Given the description of an element on the screen output the (x, y) to click on. 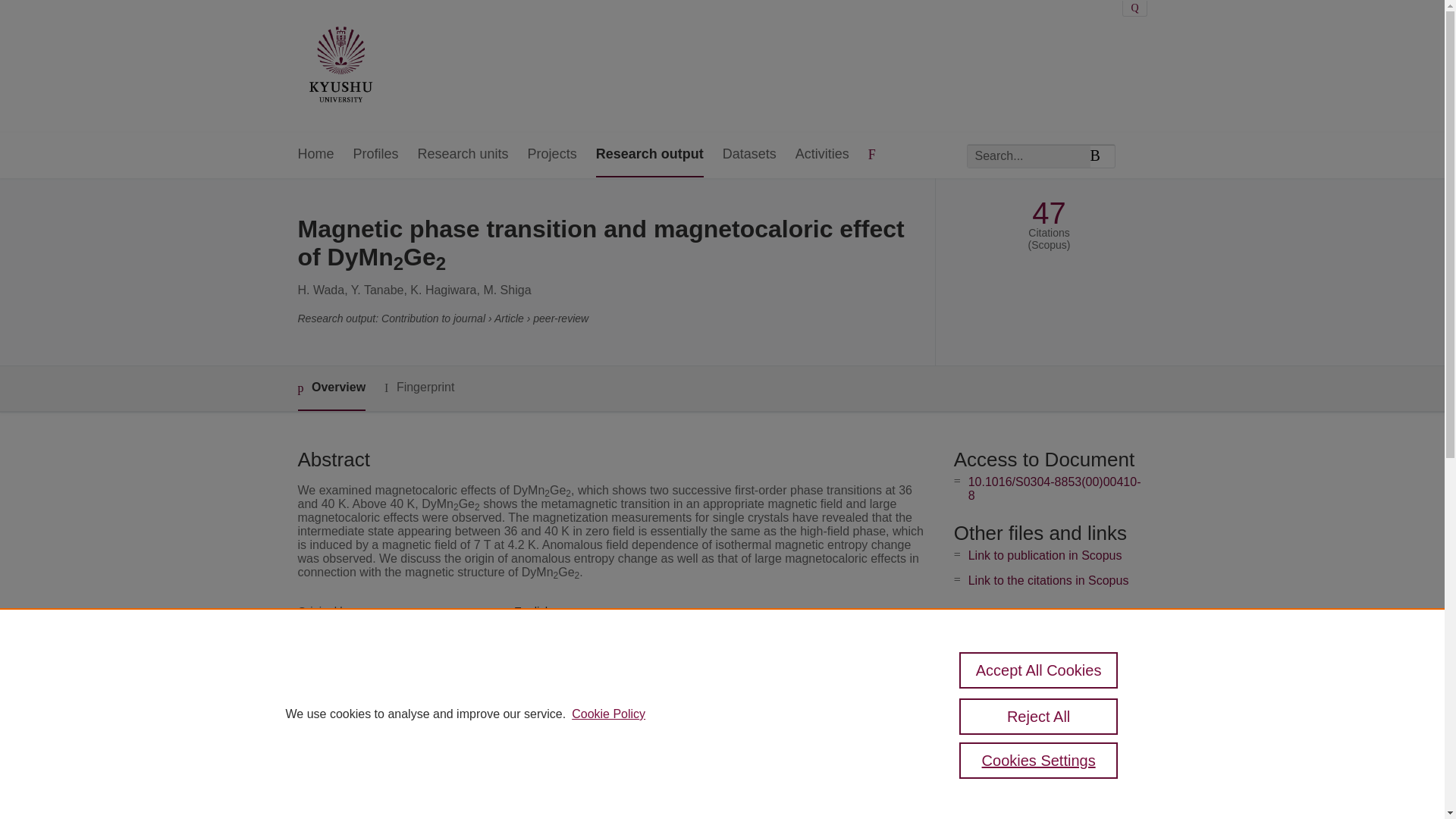
Fingerprint (419, 387)
Journal of Magnetism and Magnetic Materials (628, 662)
Link to publication in Scopus (1045, 554)
Datasets (749, 154)
Activities (821, 154)
Research units (462, 154)
Link to the citations in Scopus (1048, 580)
Overview (331, 388)
Projects (551, 154)
Research output (649, 154)
47 (1048, 212)
Profiles (375, 154)
